Given the description of an element on the screen output the (x, y) to click on. 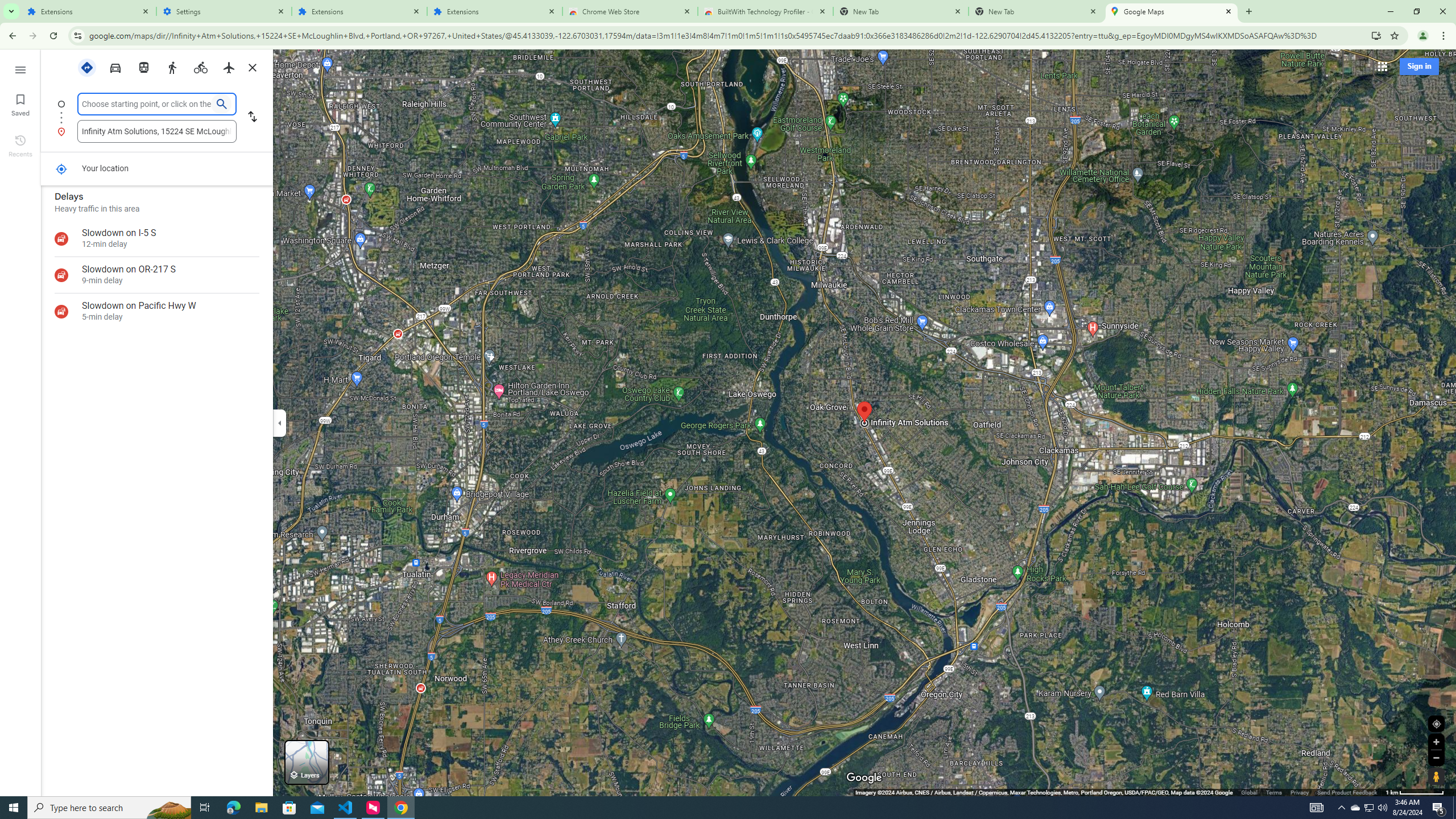
Zoom out (1436, 757)
Show Street View coverage (1436, 776)
Extensions (359, 11)
Flights (228, 66)
Recents (20, 145)
Send Product Feedback (1347, 792)
Menu (20, 68)
Best travel modes (86, 67)
Driving (115, 67)
Flights (228, 67)
